Given the description of an element on the screen output the (x, y) to click on. 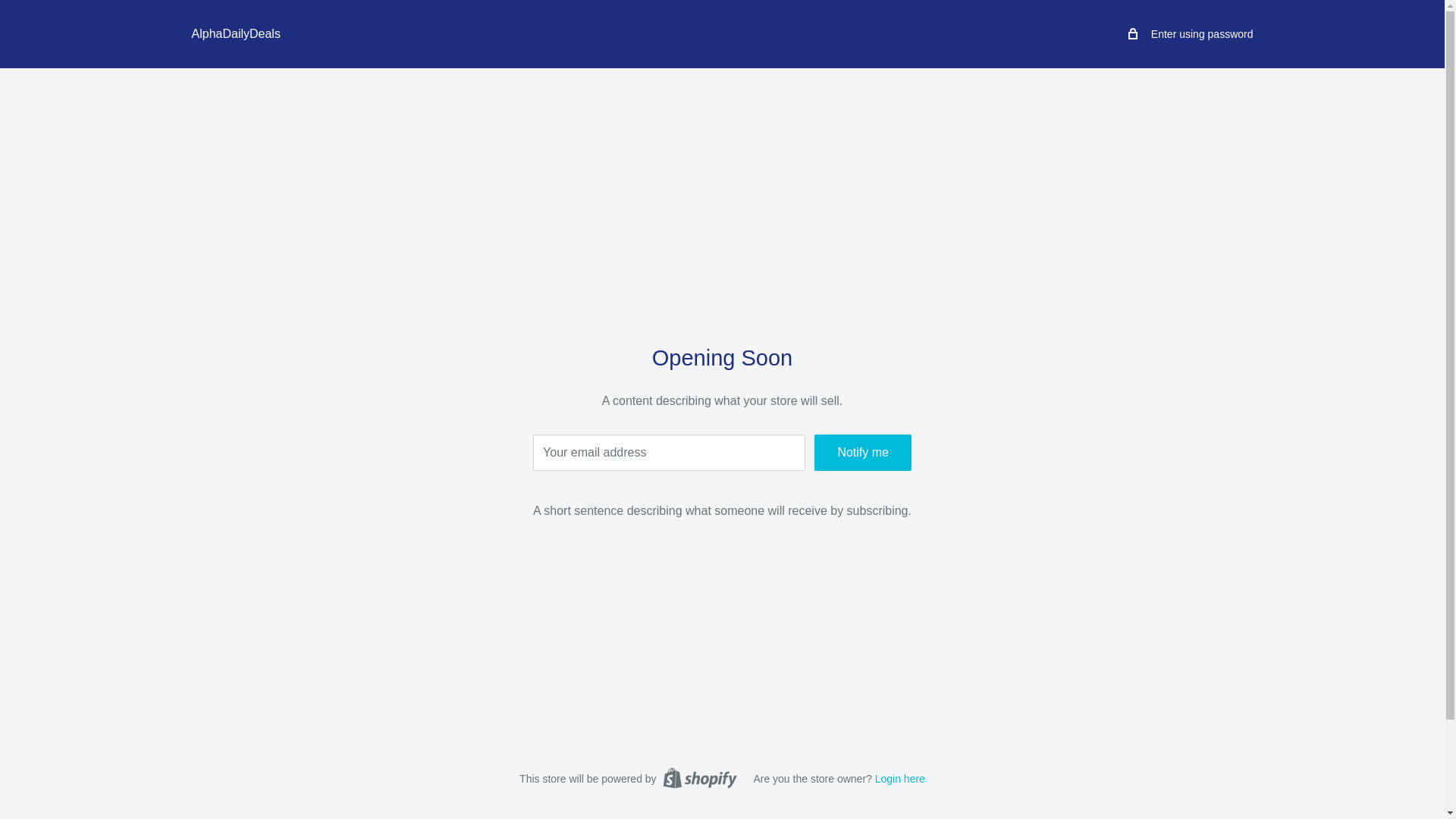
AlphaDailyDeals (234, 33)
Notify me (862, 452)
Login here (899, 778)
Create your own online store with Shopify (699, 777)
Enter using password (1190, 34)
